Given the description of an element on the screen output the (x, y) to click on. 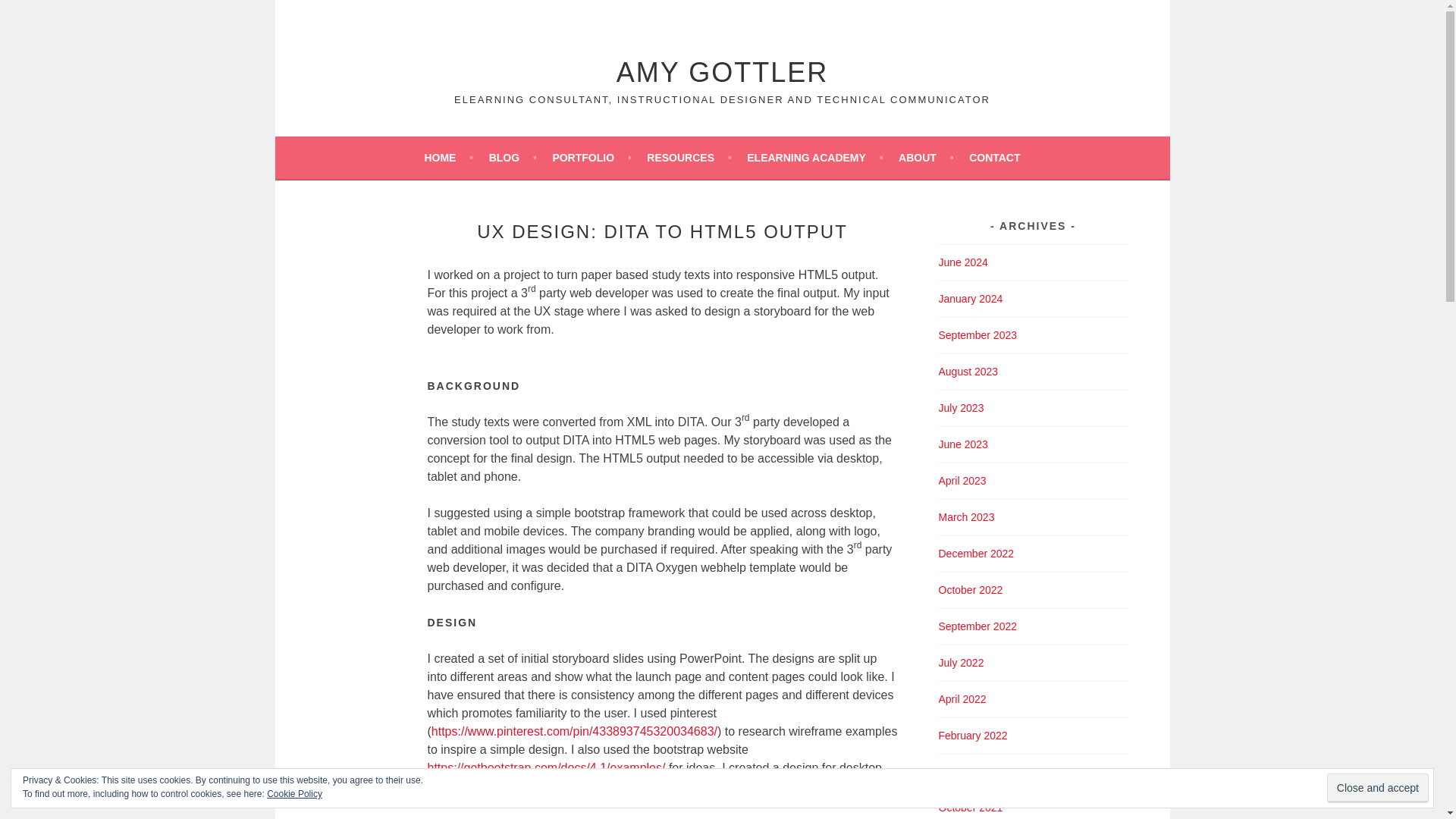
Amy Gottler (721, 71)
April 2022 (963, 698)
PORTFOLIO (590, 157)
Close and accept (1377, 788)
January 2022 (971, 771)
December 2022 (976, 553)
RESOURCES (688, 157)
HOME (448, 157)
February 2022 (973, 735)
July 2023 (961, 408)
